Given the description of an element on the screen output the (x, y) to click on. 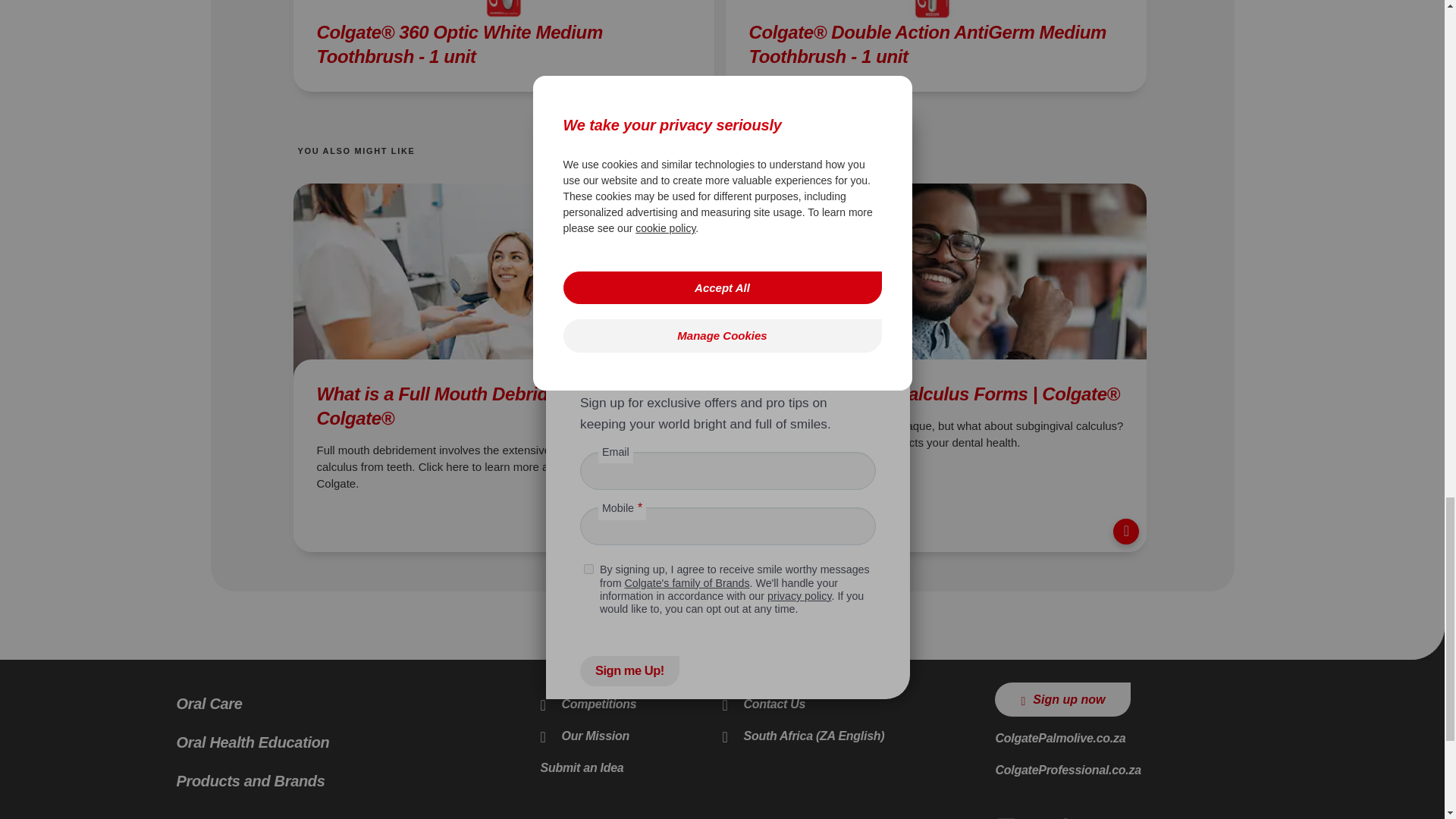
Rounded corner (1427, 643)
